Given the description of an element on the screen output the (x, y) to click on. 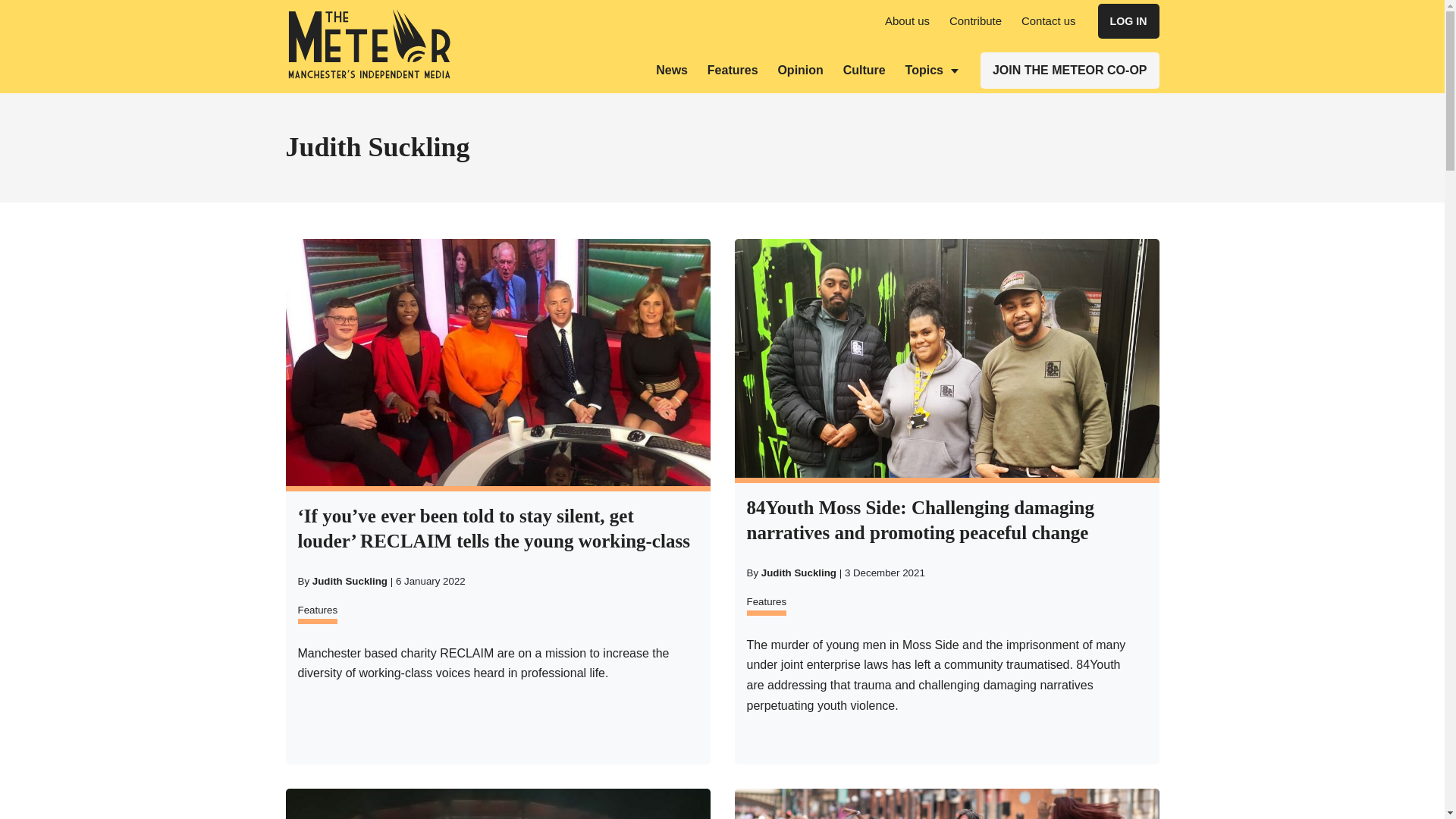
About us (907, 19)
JOIN THE METEOR CO-OP (1069, 69)
LOG IN (1128, 21)
Features (732, 69)
Features (765, 604)
Opinion (799, 69)
Topics (931, 69)
Contribute (975, 19)
Culture (864, 69)
